Given the description of an element on the screen output the (x, y) to click on. 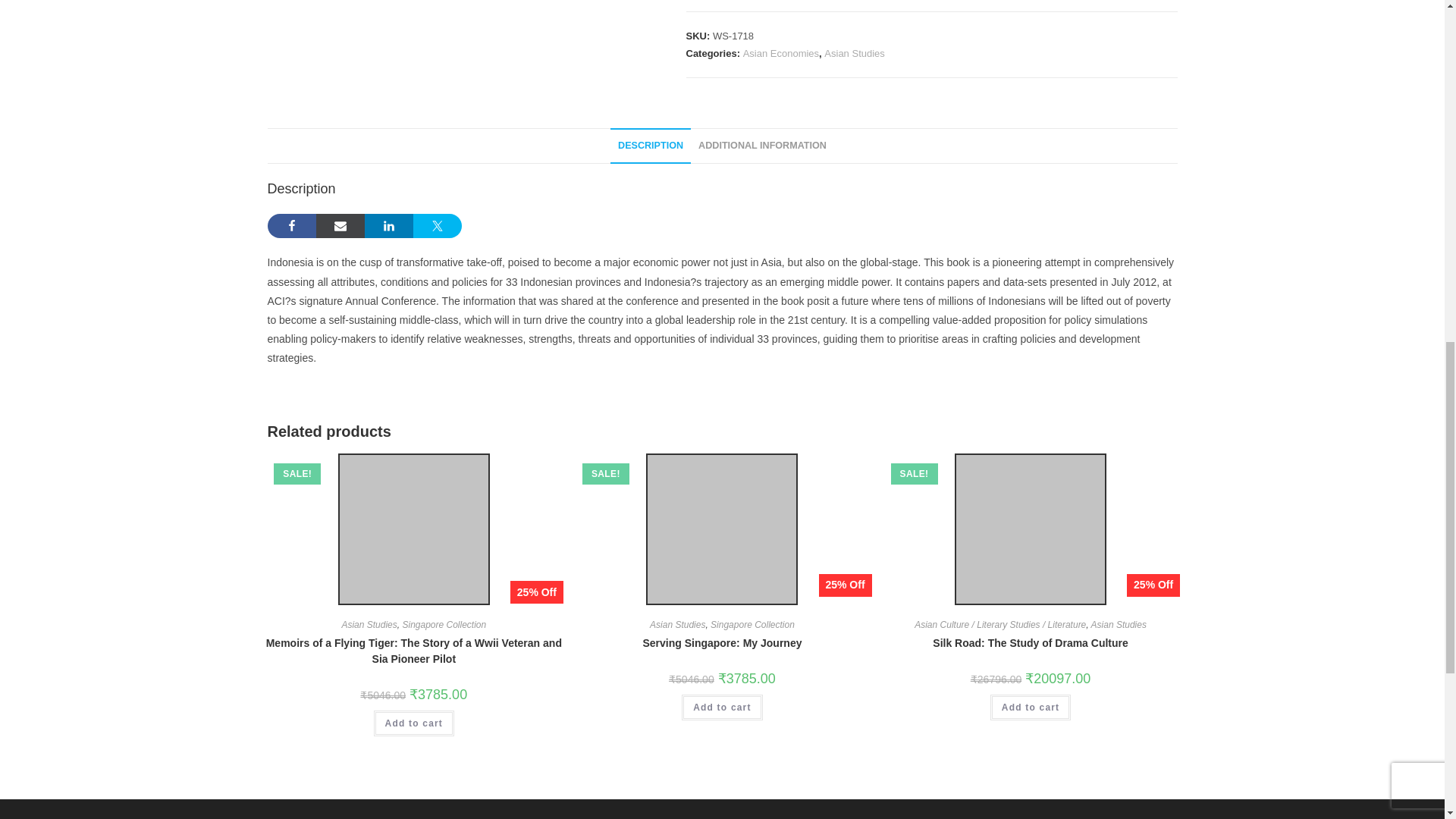
Asian Economies (780, 52)
Asian Studies (854, 52)
ADDITIONAL INFORMATION (762, 145)
DESCRIPTION (650, 145)
Share on LinkedIn (388, 225)
Share on Twitter (436, 225)
Share via Email (339, 225)
Share on Facebook (290, 225)
